Given the description of an element on the screen output the (x, y) to click on. 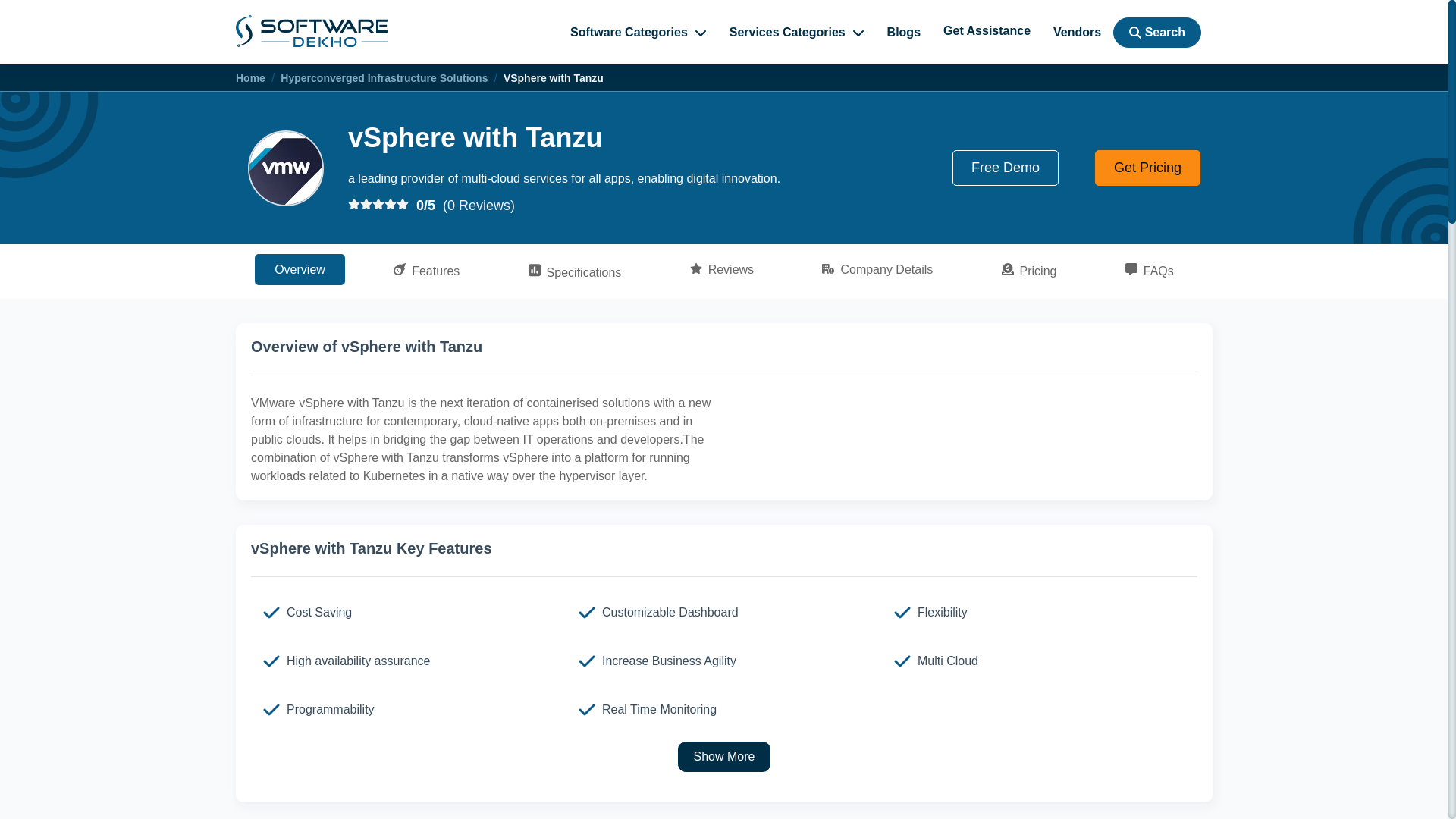
Software Categories   (638, 32)
Hyperconverged Infrastructure Solutions (384, 78)
home (311, 30)
Software Icon (285, 168)
Home (249, 78)
